Given the description of an element on the screen output the (x, y) to click on. 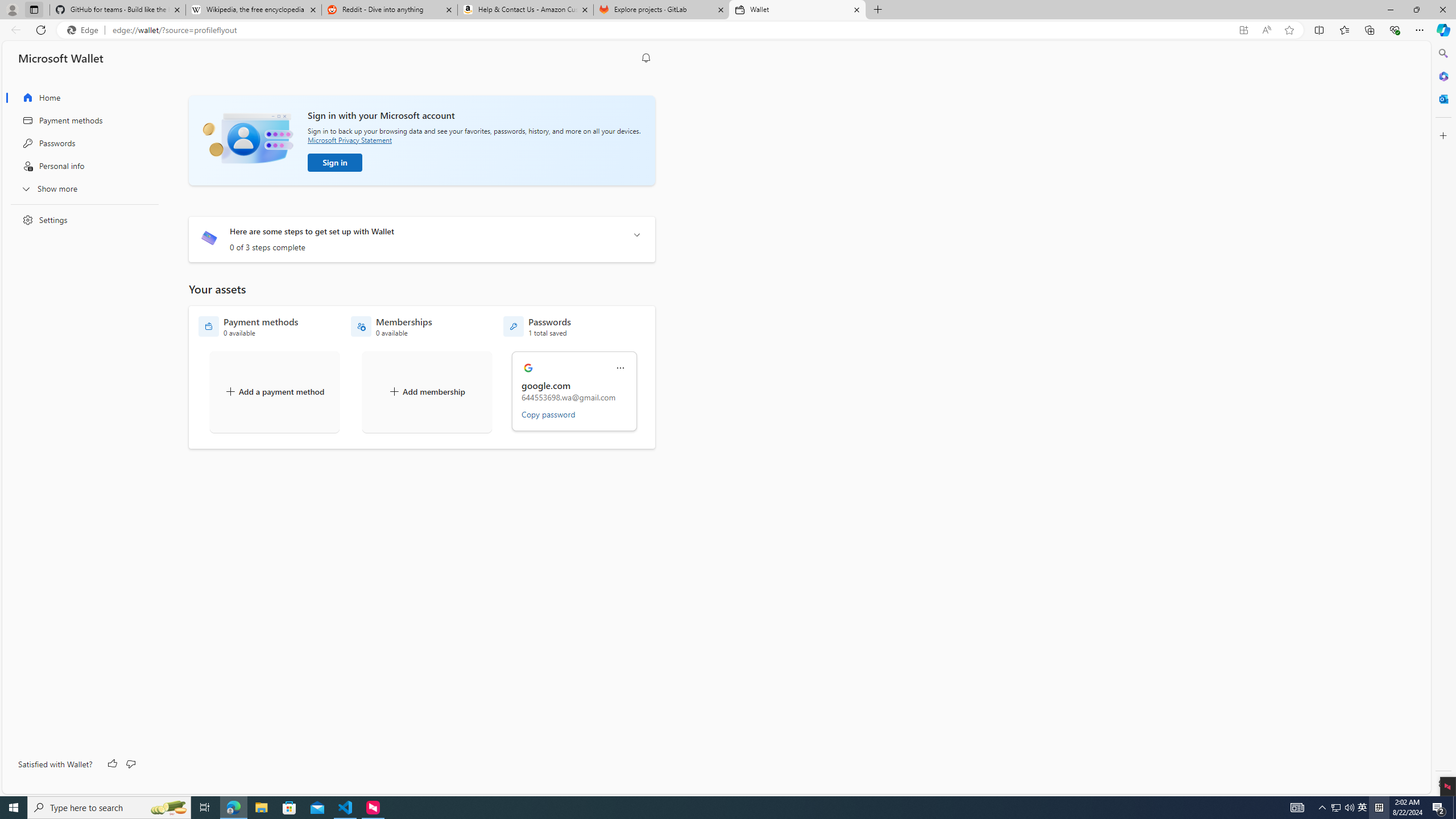
Passwords - 1 total saved (537, 326)
Memberships - 0 available (391, 326)
Notification (646, 58)
Payment methods (81, 120)
Edge (84, 29)
Passwords (81, 142)
